Given the description of an element on the screen output the (x, y) to click on. 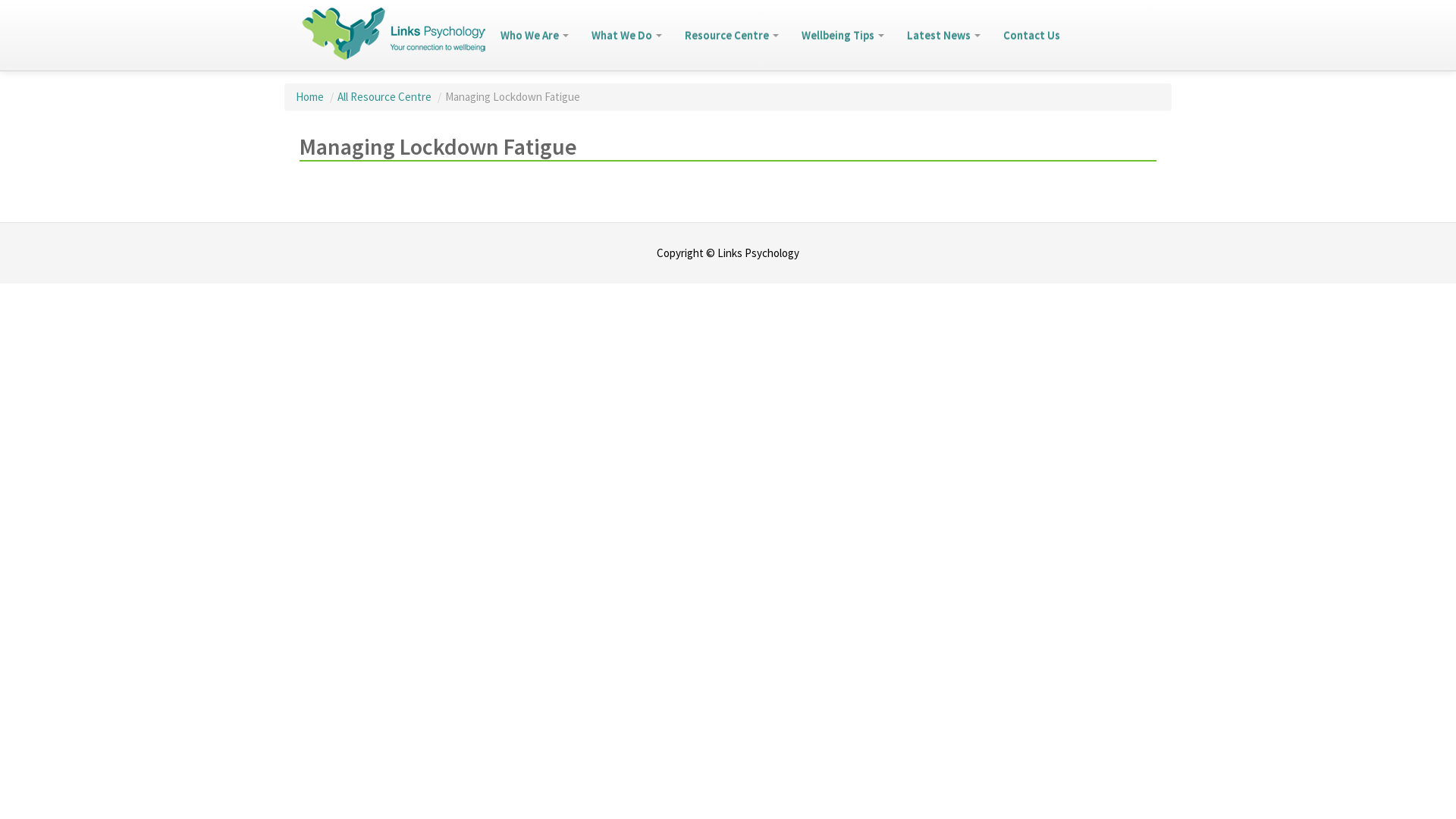
Contact Us Element type: text (1031, 35)
Latest News Element type: text (943, 35)
Wellbeing Tips Element type: text (842, 35)
Resource Centre Element type: text (731, 35)
Home Element type: text (310, 96)
What We Do Element type: text (626, 35)
All Resource Centre Element type: text (385, 96)
Who We Are Element type: text (534, 35)
